Given the description of an element on the screen output the (x, y) to click on. 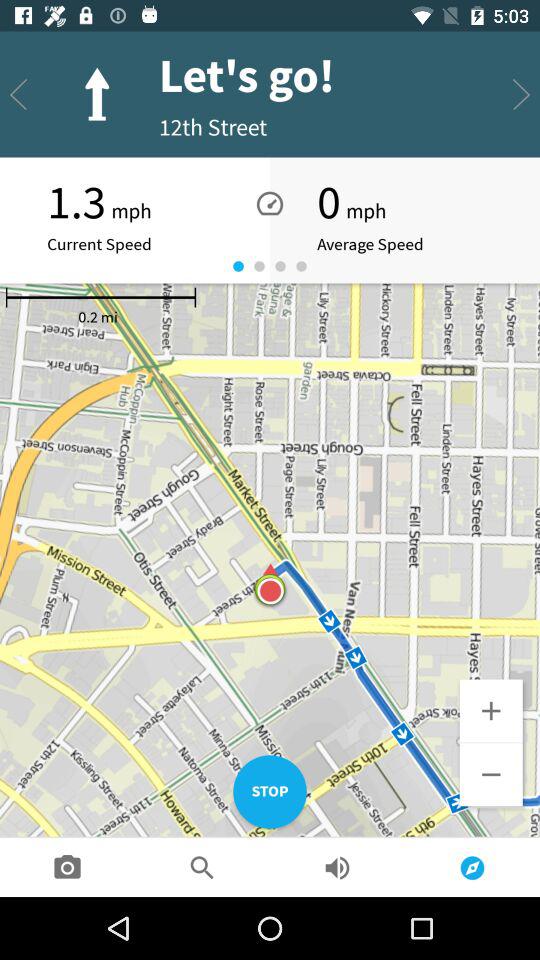
click search icon (202, 867)
select the  icon (491, 711)
select the right scroll button (521, 94)
